Given the description of an element on the screen output the (x, y) to click on. 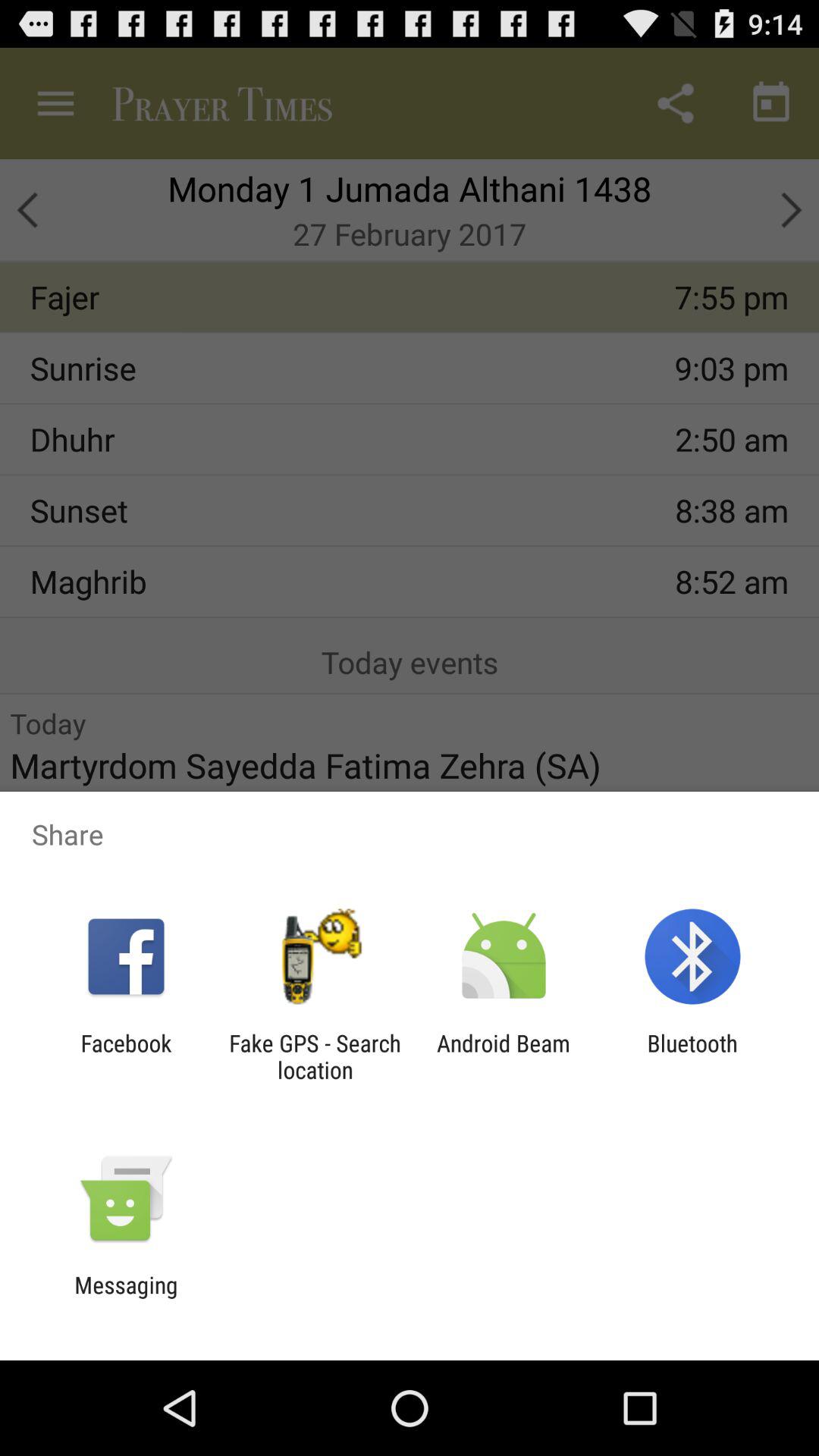
scroll until fake gps search item (314, 1056)
